Given the description of an element on the screen output the (x, y) to click on. 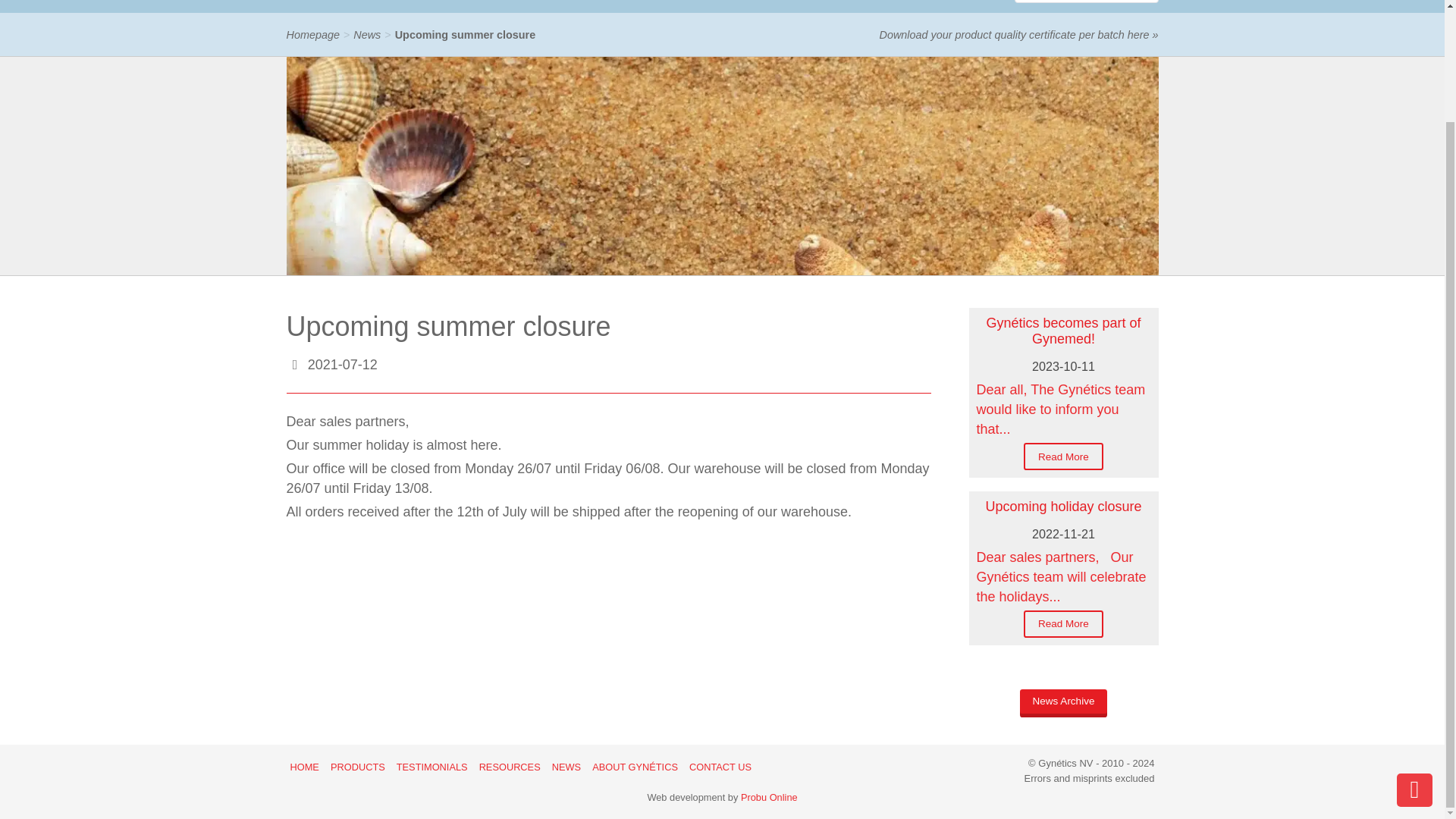
Read More (1063, 456)
Products (379, 6)
Homepage (312, 34)
Upcoming summer closure (464, 34)
Home (314, 6)
Resources (559, 6)
Homepage (312, 34)
News (366, 34)
Testimonials (465, 6)
News (629, 6)
Search for: (1086, 1)
Upcoming holiday closure (1063, 506)
Contact us (817, 6)
Probu Online (769, 797)
